Given the description of an element on the screen output the (x, y) to click on. 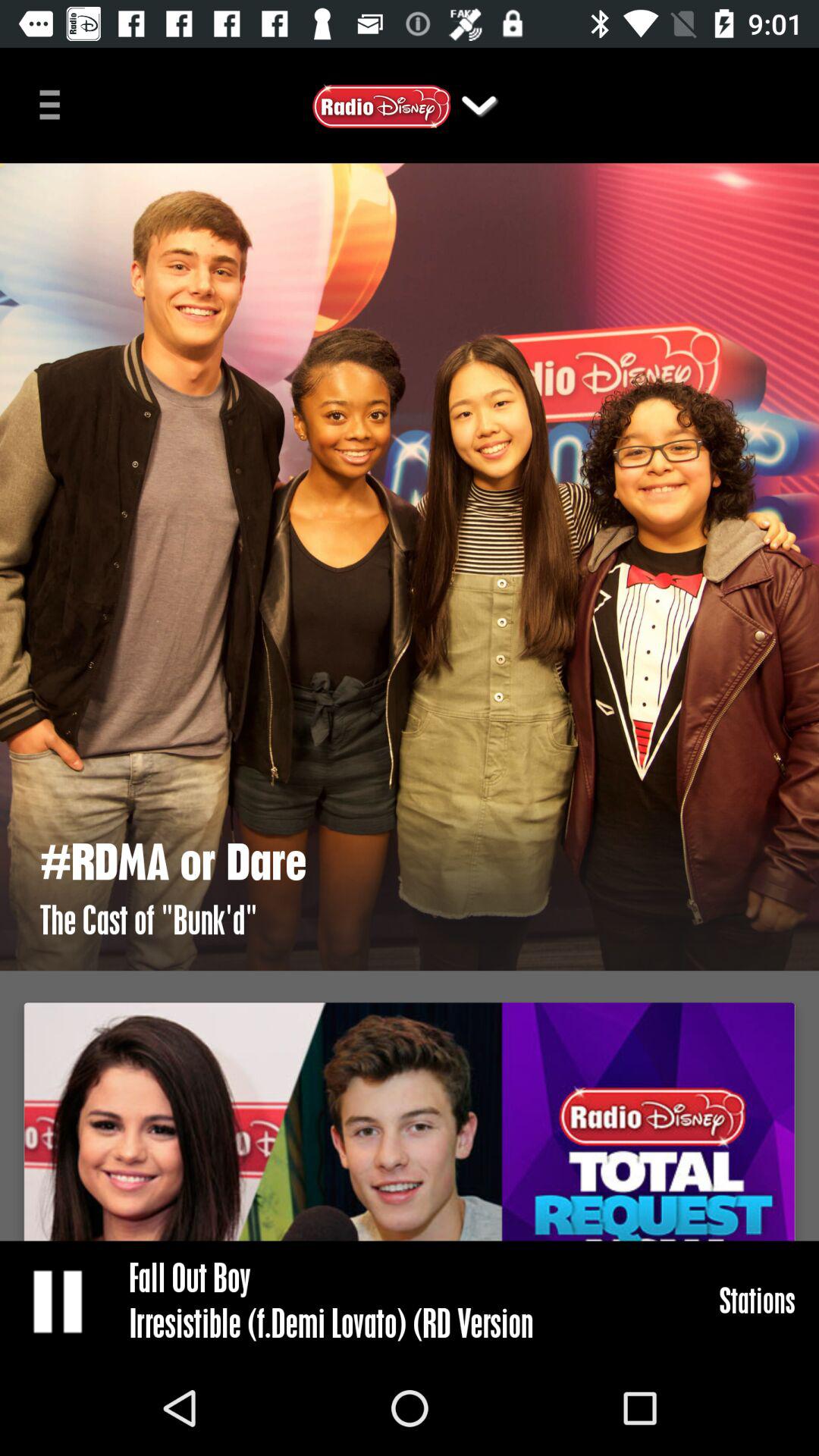
stop playing (59, 1300)
